Given the description of an element on the screen output the (x, y) to click on. 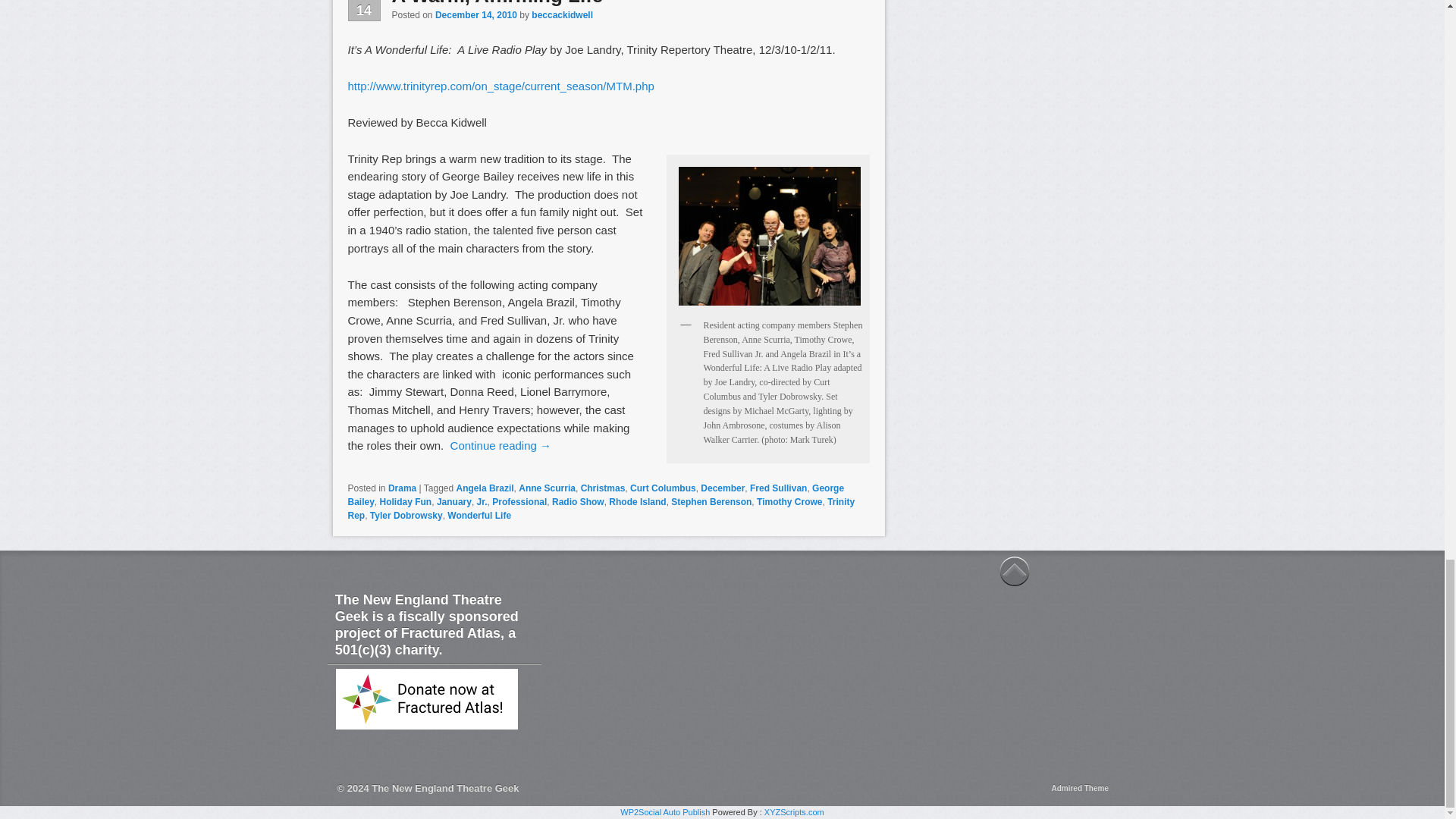
7:50 am (475, 14)
Permalink to A Warm, Affirming Life (496, 3)
WL quintet (769, 236)
View all posts by beccackidwell (561, 14)
